Given the description of an element on the screen output the (x, y) to click on. 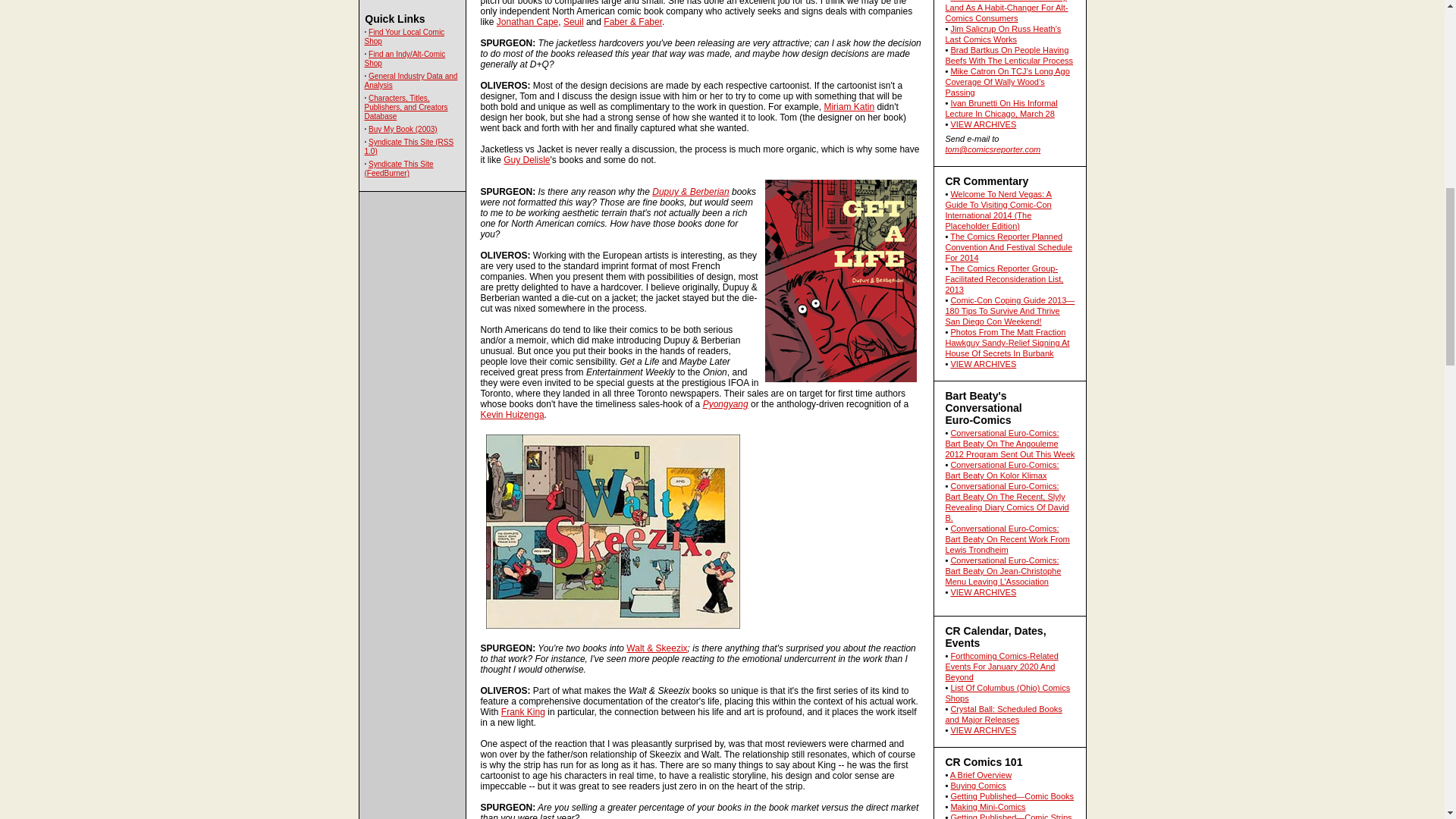
Frank King (522, 711)
Seuil (573, 21)
Find Your Local Comic Shop (404, 36)
Pyongyang (725, 403)
Seuil (573, 21)
Guy Delisle (526, 159)
Miriam Katin (849, 106)
Guy Delisle (526, 159)
Characters, Titles, Publishers, and Creators Database (405, 107)
Miriam Katin (849, 106)
Kevin Huizenga (512, 414)
Jonathan Cape (526, 21)
Kevin Huizenga (512, 414)
General Industry Data and Analysis (410, 80)
Jonathan Cape (526, 21)
